Given the description of an element on the screen output the (x, y) to click on. 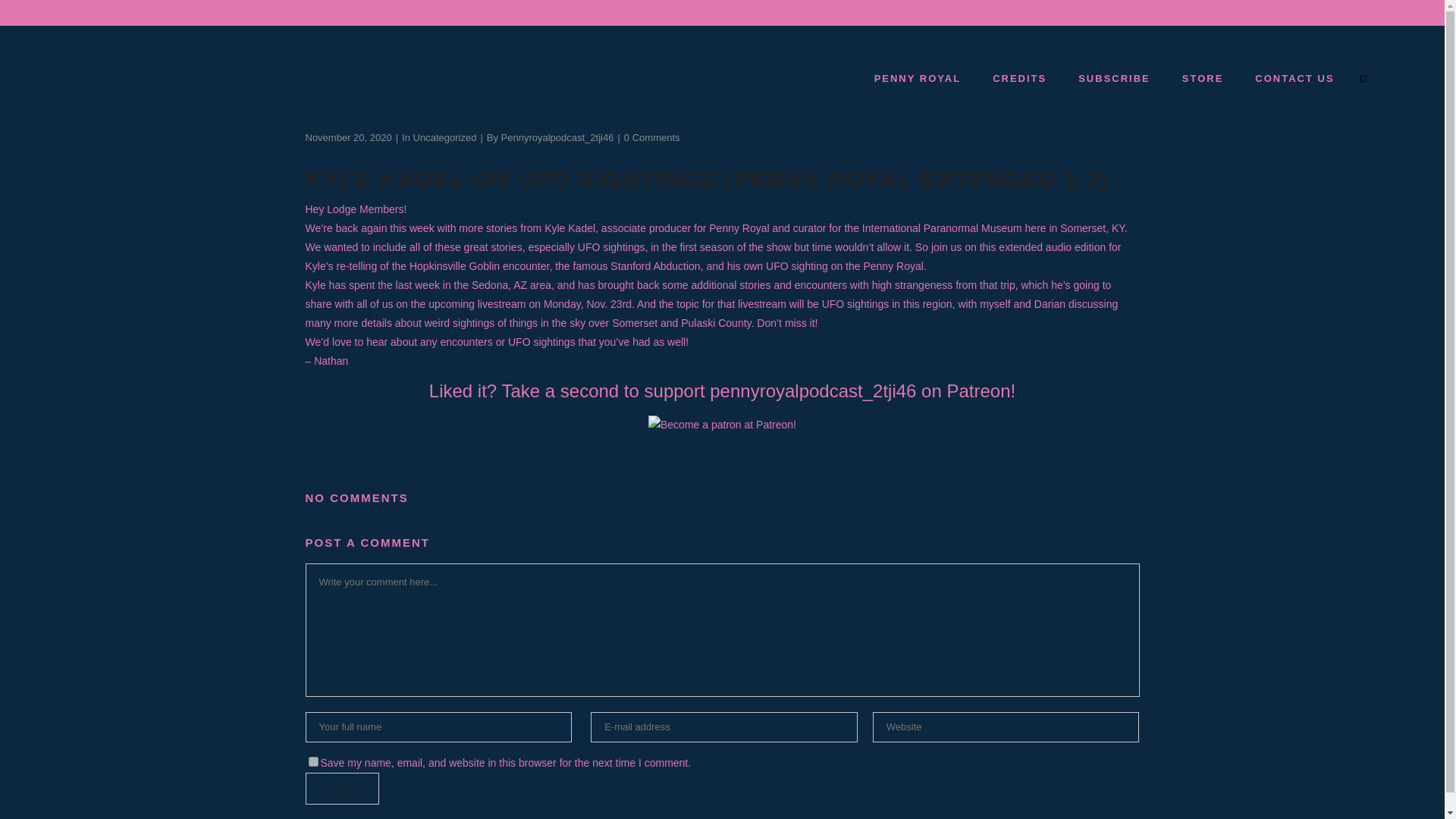
CONTACT US (1294, 78)
PENNY ROYAL (917, 78)
U (998, 412)
Uncategorized (445, 137)
Submit (341, 788)
0 Comments (651, 137)
Submit (341, 788)
SUBSCRIBE (1113, 78)
yes (312, 761)
